Given the description of an element on the screen output the (x, y) to click on. 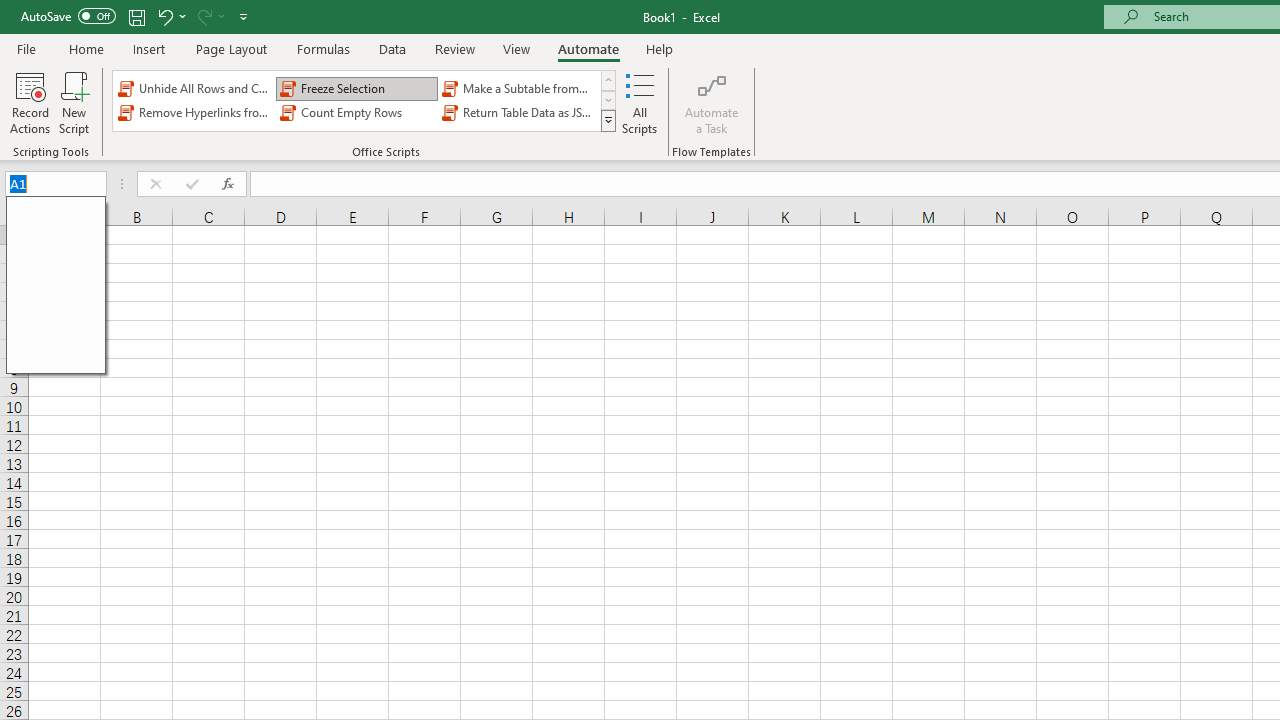
Automate a Task (712, 102)
AutomationID: OfficeScriptsGallery (365, 100)
New Script (73, 102)
